Given the description of an element on the screen output the (x, y) to click on. 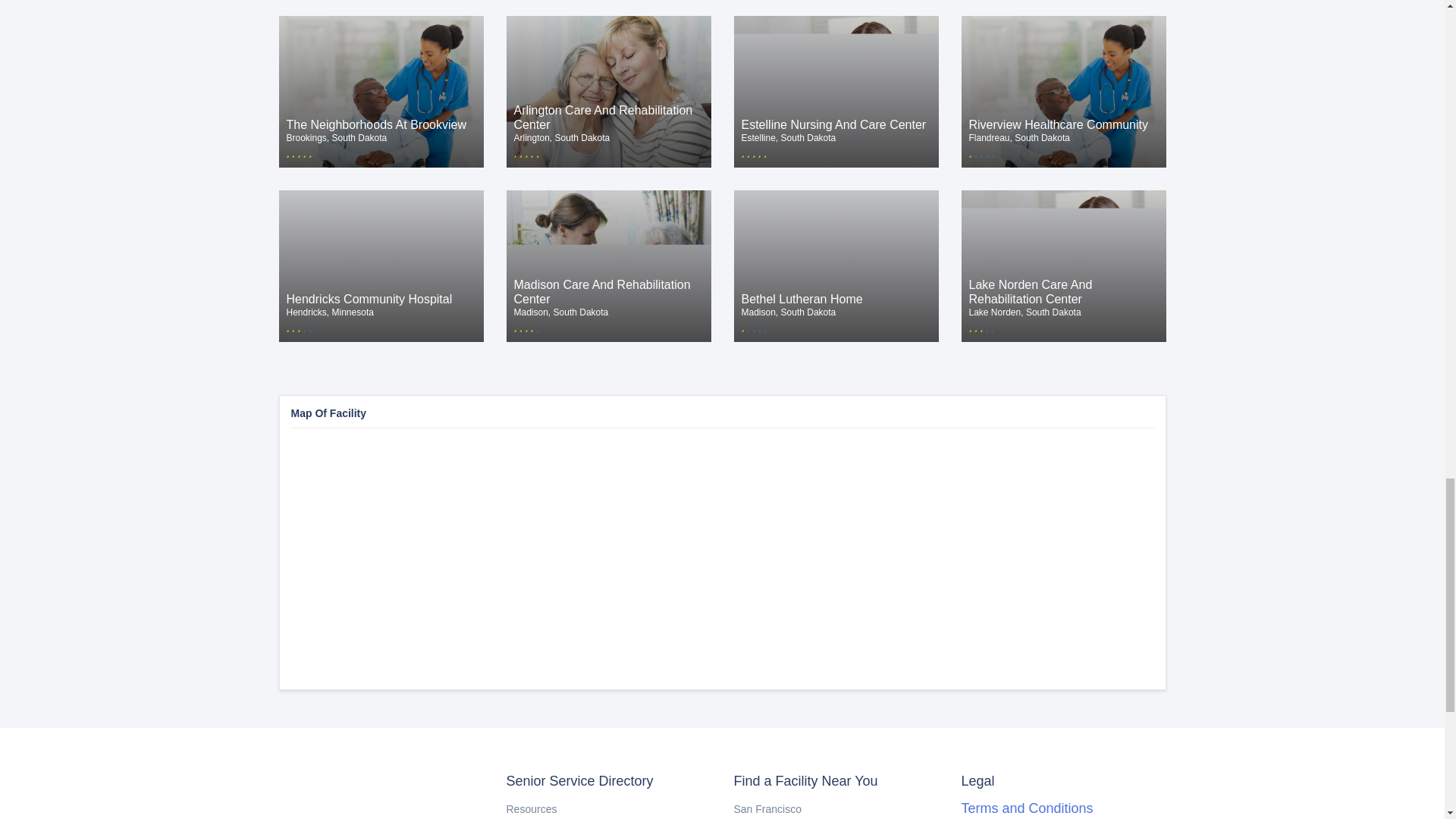
Terms and Conditions (1026, 807)
Resources (836, 266)
San Francisco (531, 808)
